Given the description of an element on the screen output the (x, y) to click on. 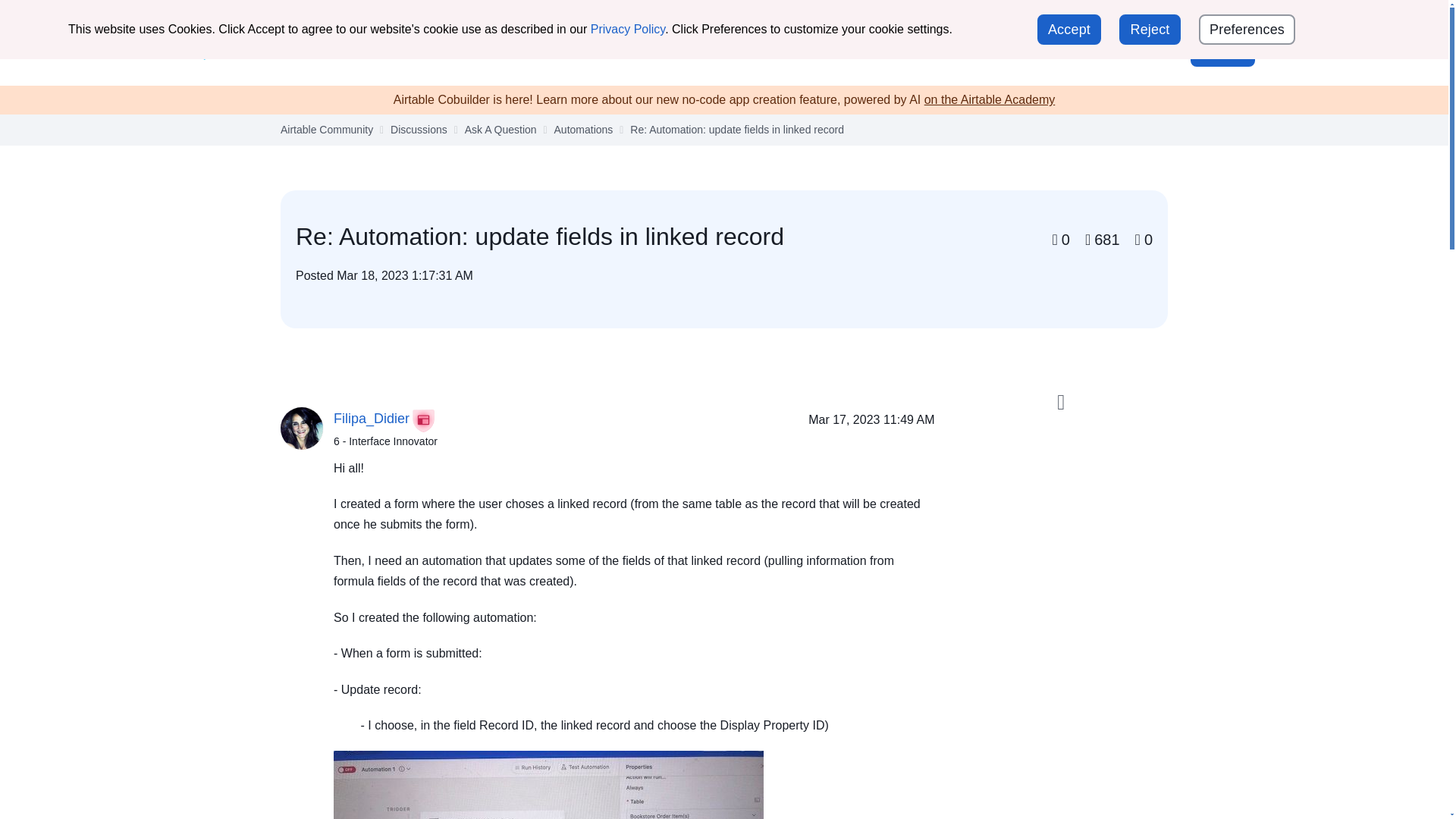
Airtable Community (269, 51)
Help (1157, 50)
Accept (1068, 29)
Sign In (1223, 51)
Preferences (1246, 29)
Events (661, 50)
Product Ideas (826, 50)
Support (1104, 17)
Search (1114, 51)
Privacy Policy (628, 29)
Announcements (417, 50)
Reject (1149, 29)
Resources (734, 50)
Discussions (519, 50)
Sign up for Airtable (1204, 17)
